Given the description of an element on the screen output the (x, y) to click on. 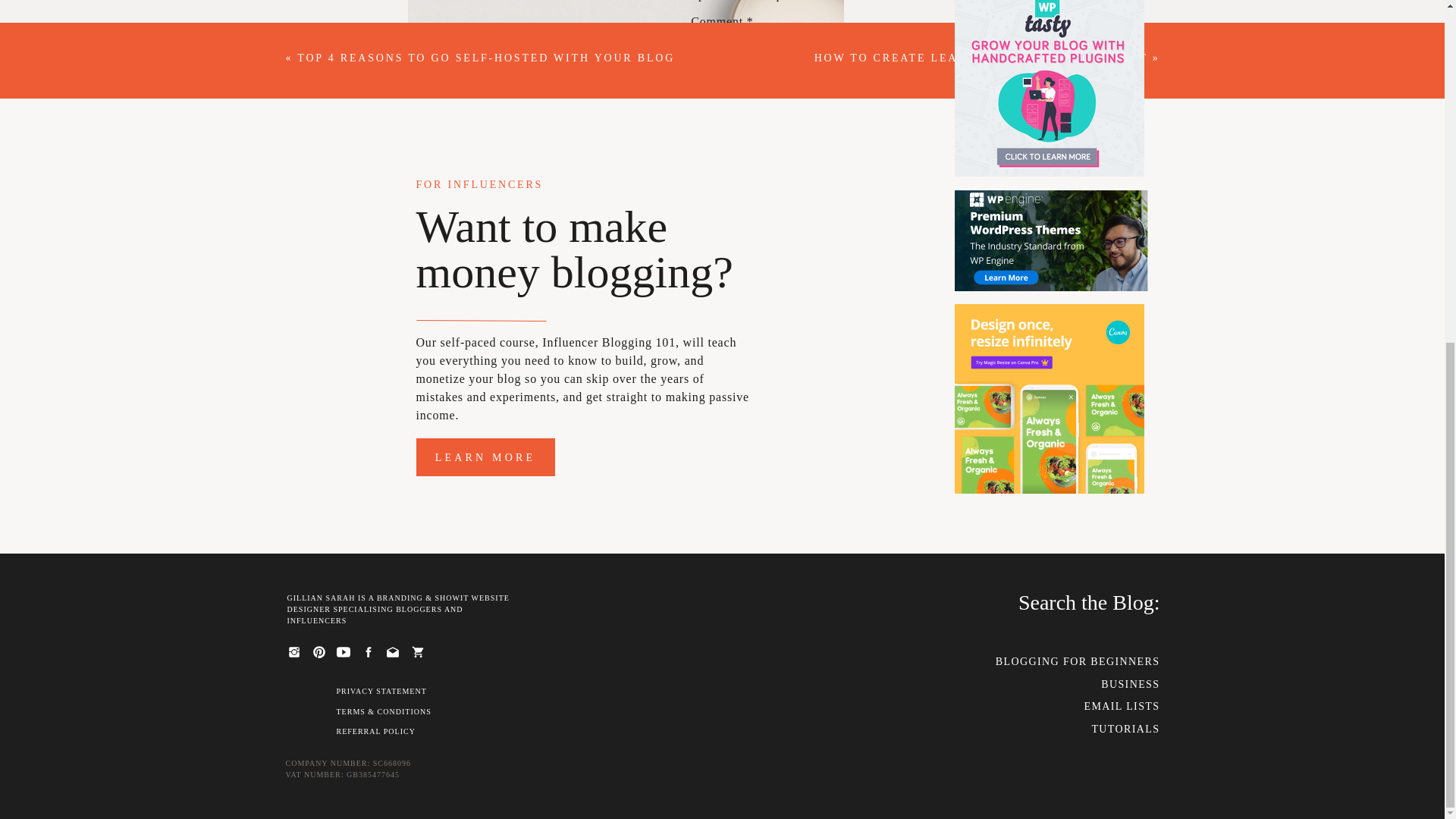
Post Comment (722, 358)
Save to Pinterest (442, 665)
Pinterest (442, 665)
EMAIL LISTS (1065, 706)
TOP 4 REASONS TO GO SELF-HOSTED WITH YOUR BLOG (486, 57)
YOU CAN FIND OUT MORE ABOUT OUR CUSTOM DESIGN SERVICES HERE (626, 484)
Facebook (546, 665)
Post Comment (722, 358)
HOW TO CREATE LEAD MAGNETS THAT CONVERT (980, 57)
Share on LinkedIn (652, 665)
